Given the description of an element on the screen output the (x, y) to click on. 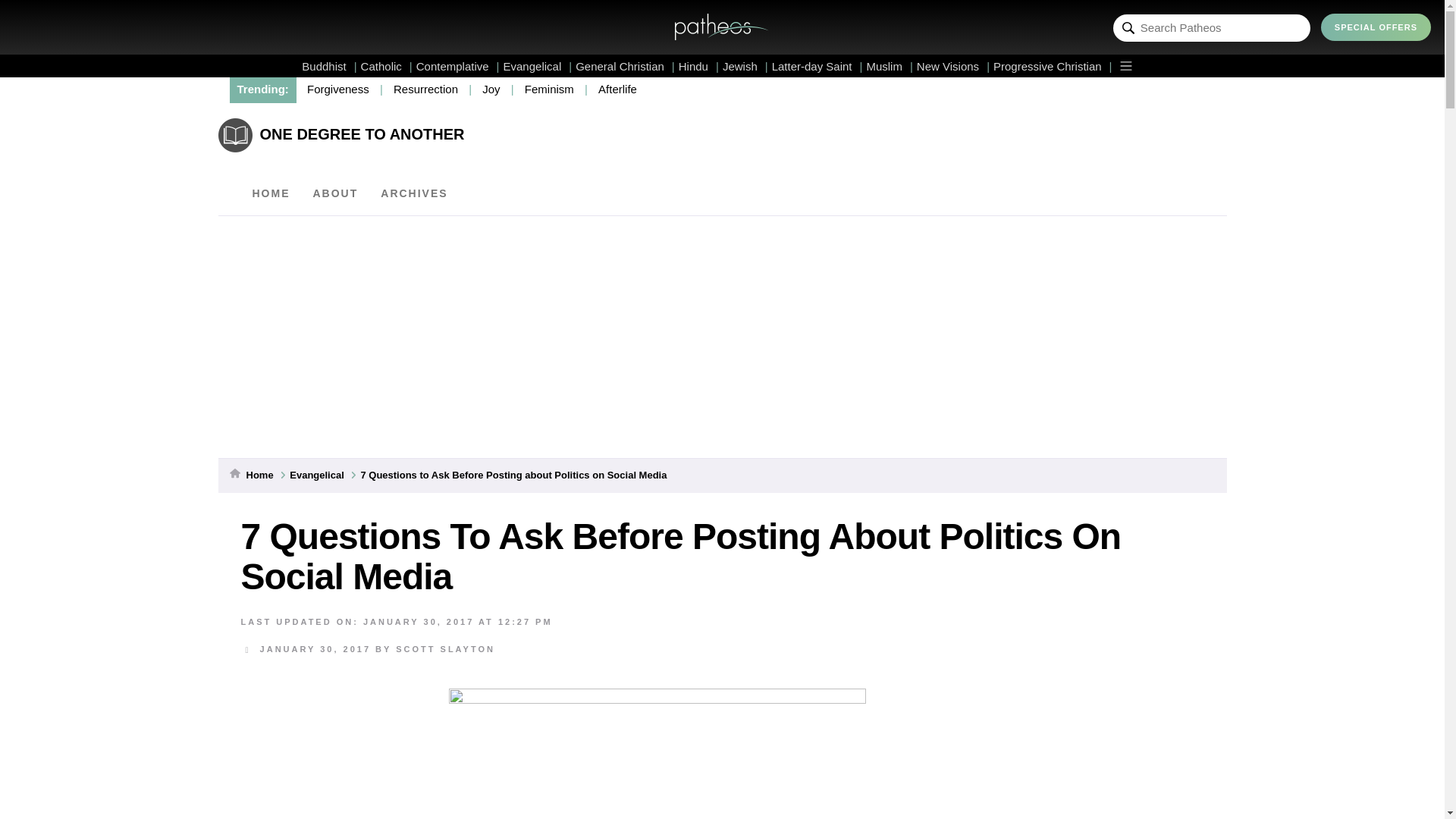
Evangelical (537, 65)
Catholic (386, 65)
General Christian (625, 65)
Progressive Christian (1052, 65)
New Visions (953, 65)
Jewish (745, 65)
SPECIAL OFFERS (1375, 26)
Muslim (889, 65)
Contemplative (457, 65)
Hindu (698, 65)
Buddhist (328, 65)
Latter-day Saint (817, 65)
